Given the description of an element on the screen output the (x, y) to click on. 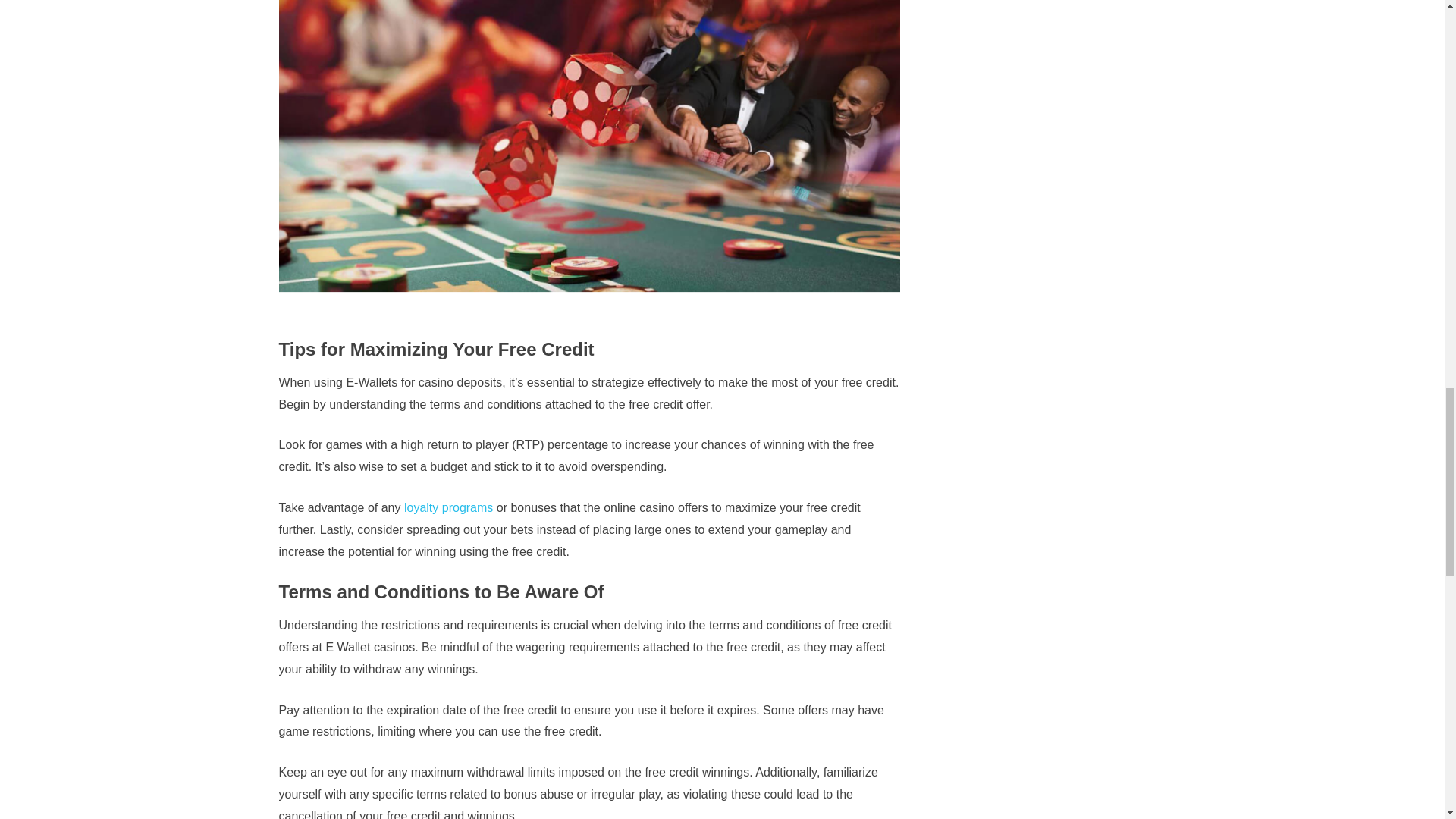
loyalty programs (448, 507)
